Given the description of an element on the screen output the (x, y) to click on. 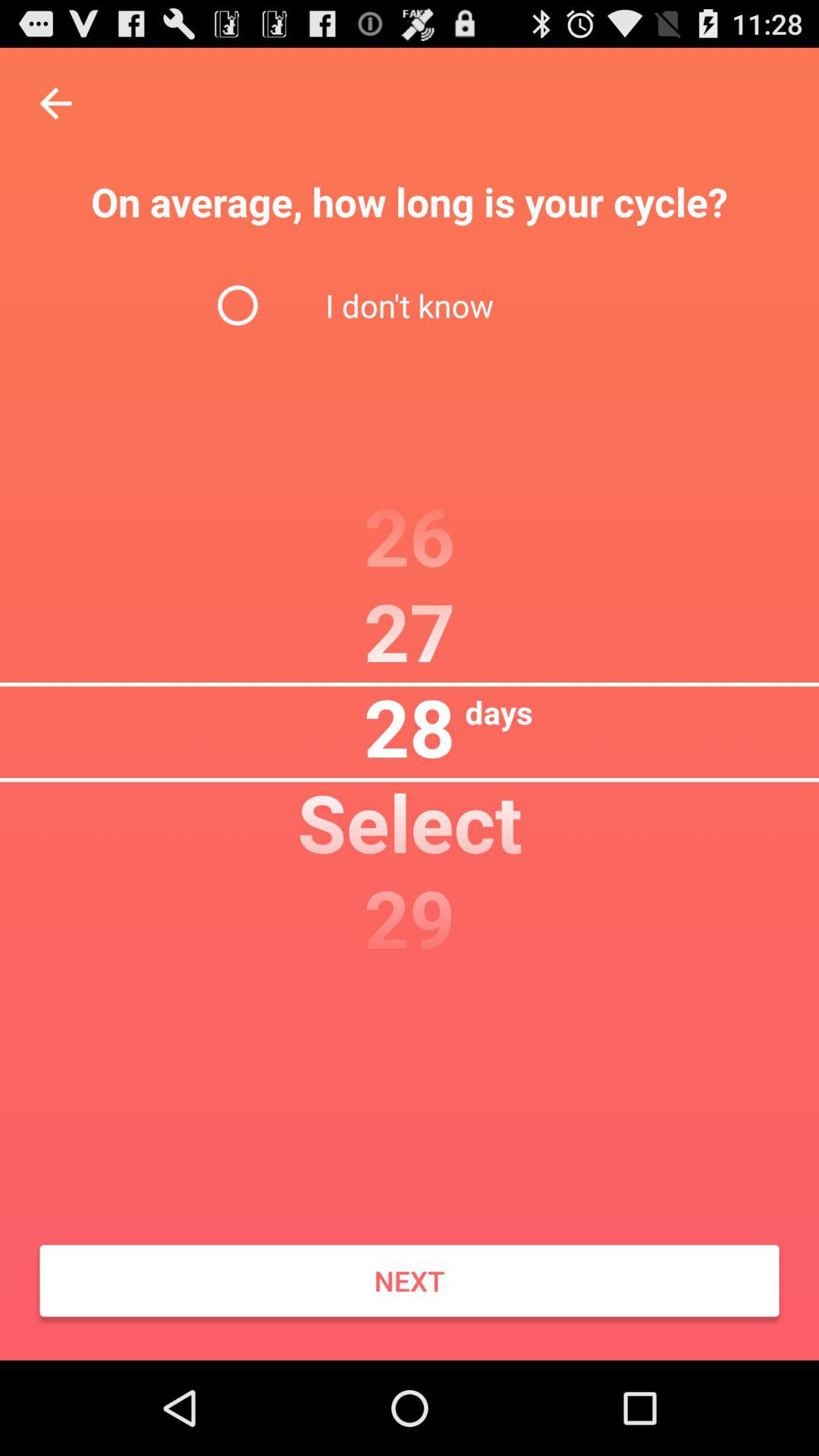
turn on the next item (409, 1280)
